Given the description of an element on the screen output the (x, y) to click on. 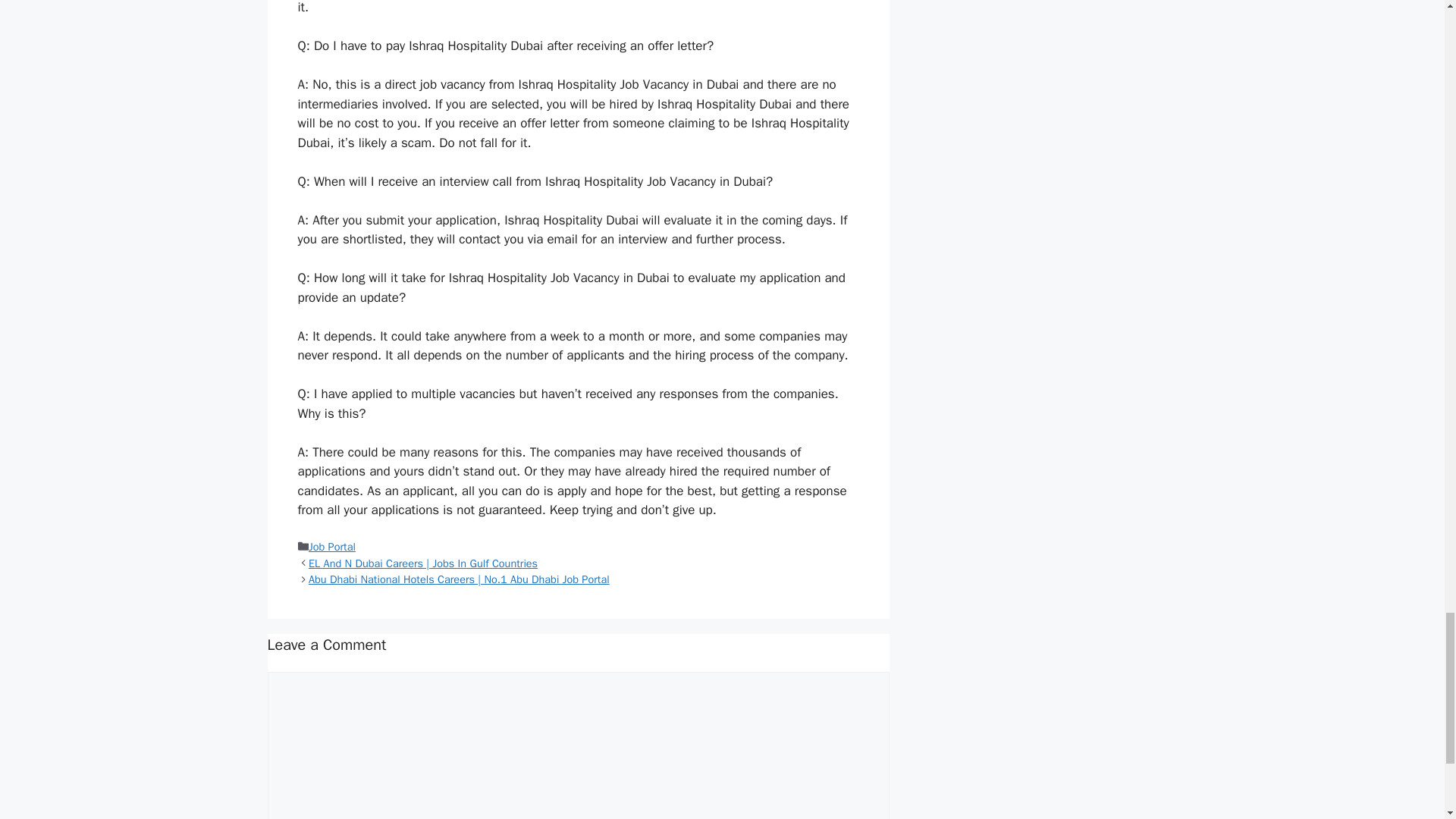
Job Portal (331, 546)
